Given the description of an element on the screen output the (x, y) to click on. 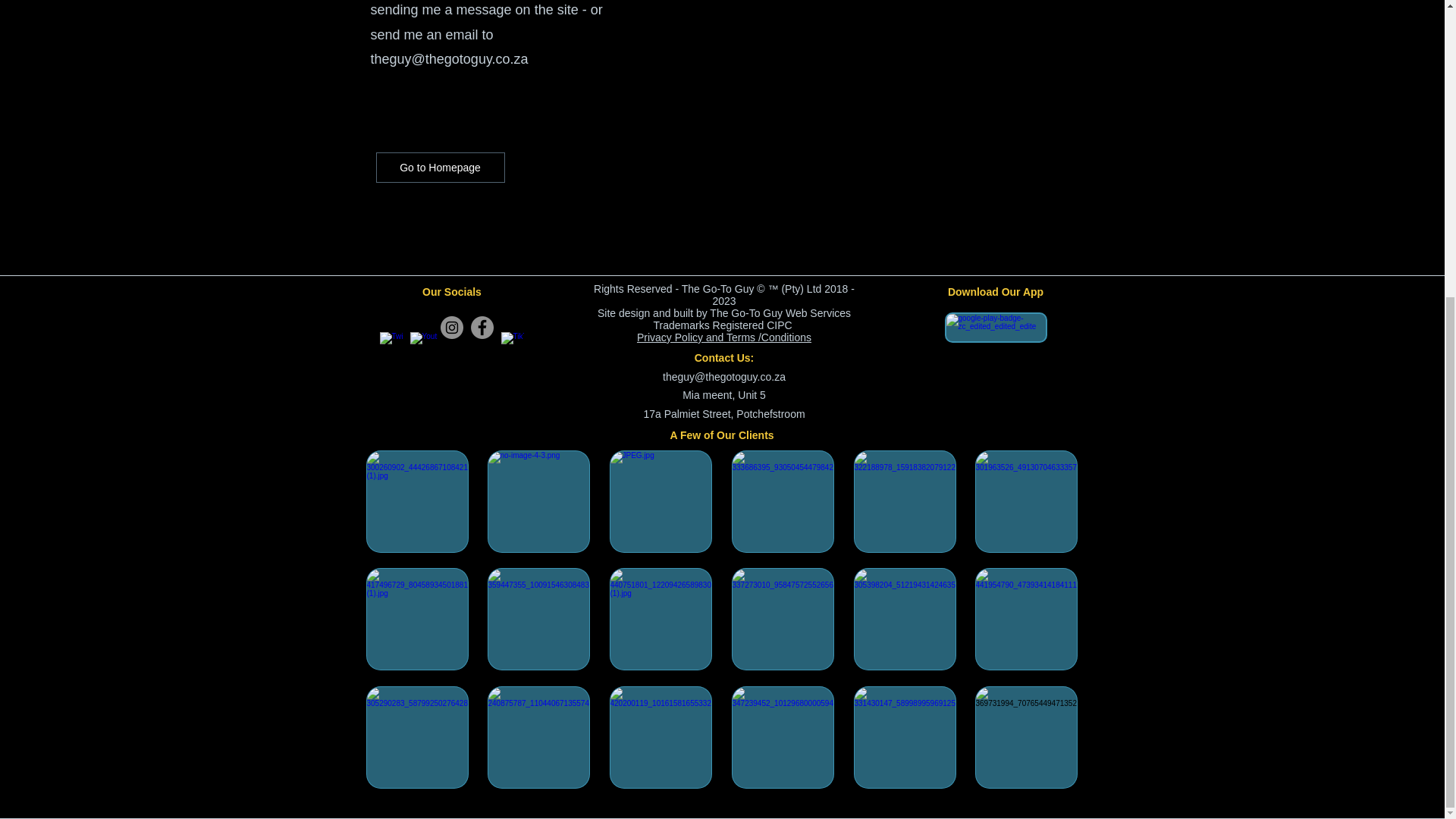
Go to Homepage (440, 167)
